Given the description of an element on the screen output the (x, y) to click on. 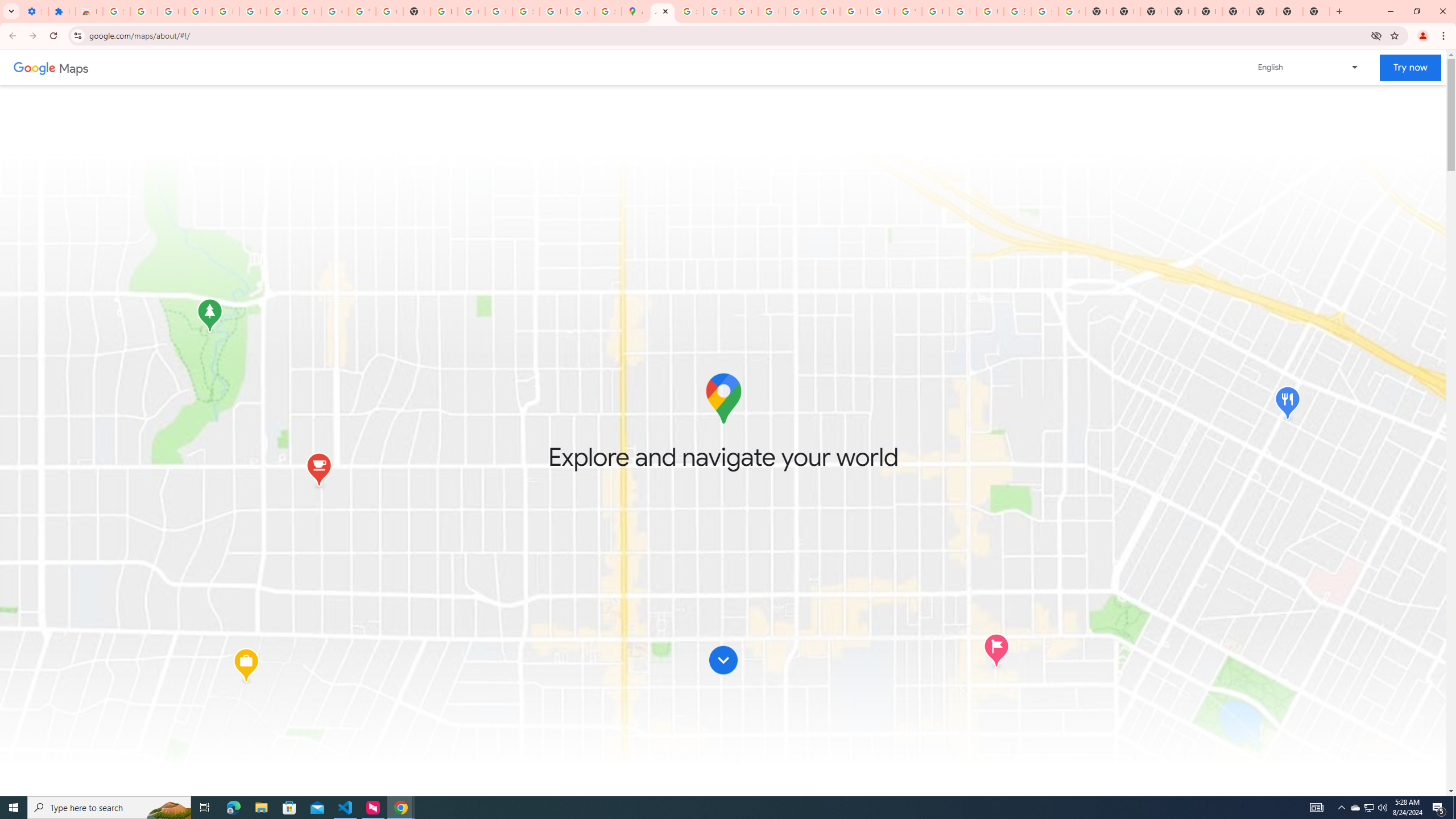
New Tab (1316, 11)
https://scholar.google.com/ (444, 11)
Privacy Help Center - Policies Help (771, 11)
Sign in - Google Accounts (716, 11)
New Tab (1180, 11)
Maps (73, 67)
